Given the description of an element on the screen output the (x, y) to click on. 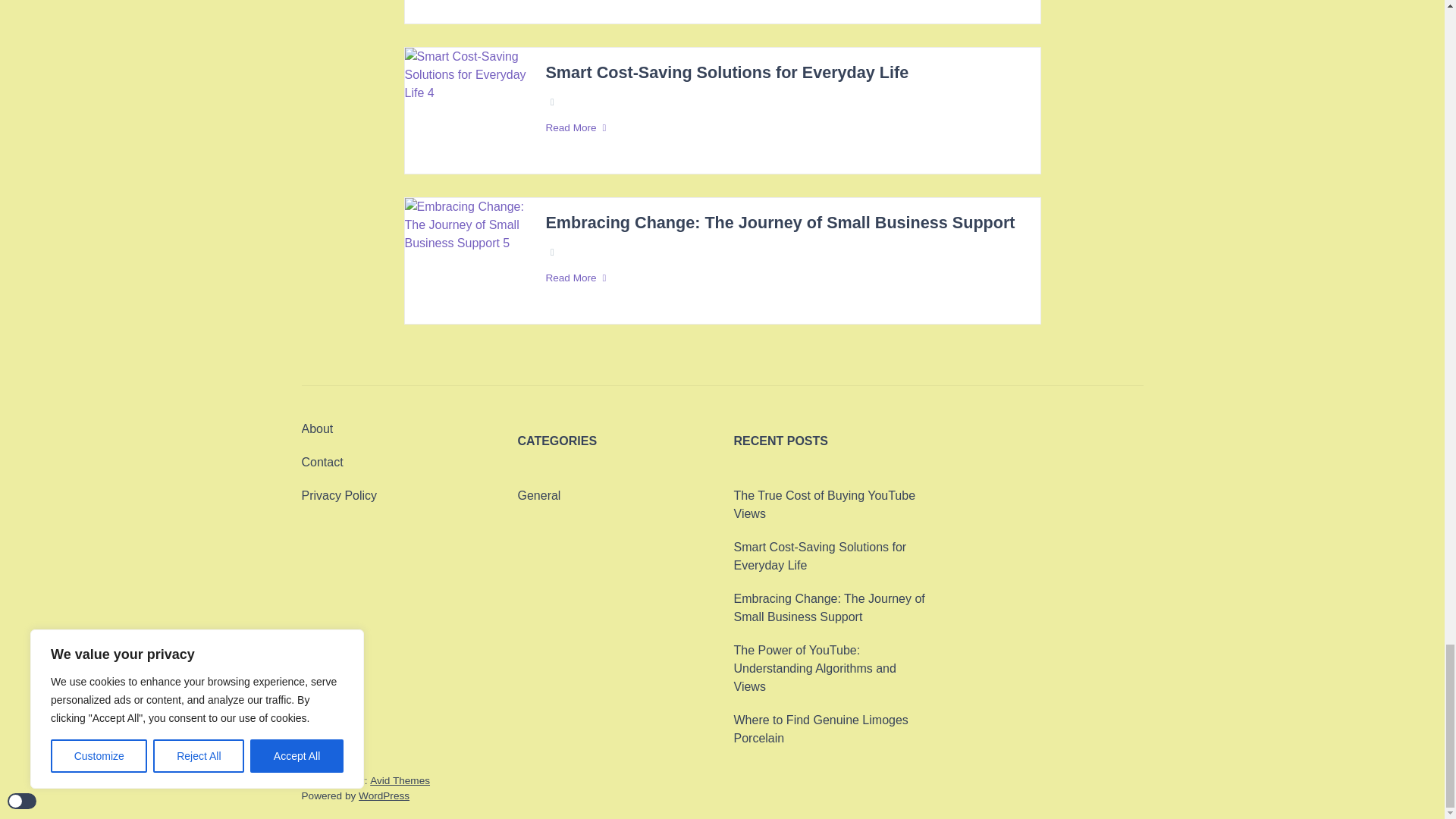
Smart Cost-Saving Solutions for Everyday Life (726, 73)
Read More (784, 127)
